Given the description of an element on the screen output the (x, y) to click on. 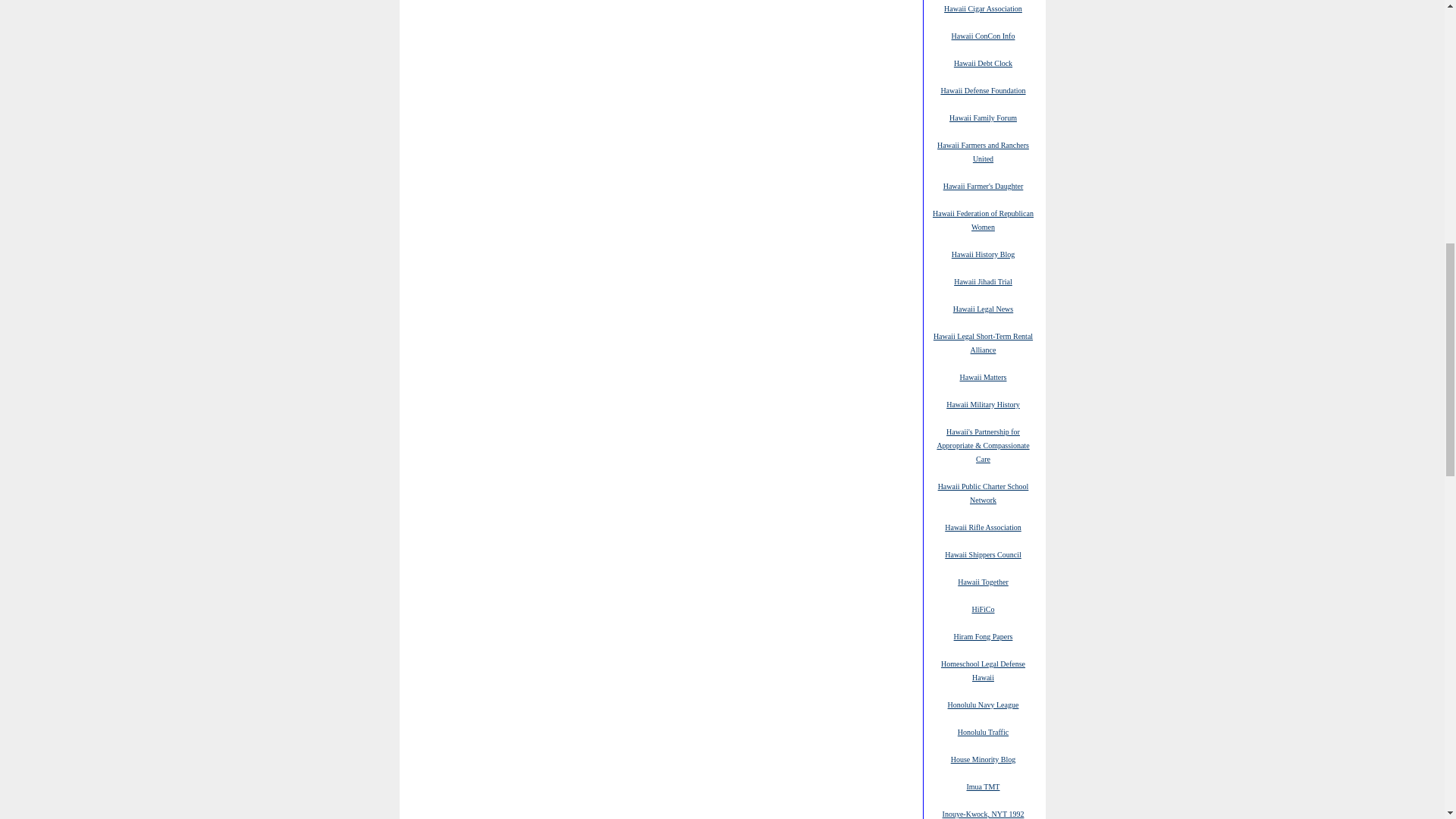
Hawaii Debt Clock (982, 62)
Hawaii ConCon Info (983, 35)
Hawaii Cigar Association (982, 8)
